Given the description of an element on the screen output the (x, y) to click on. 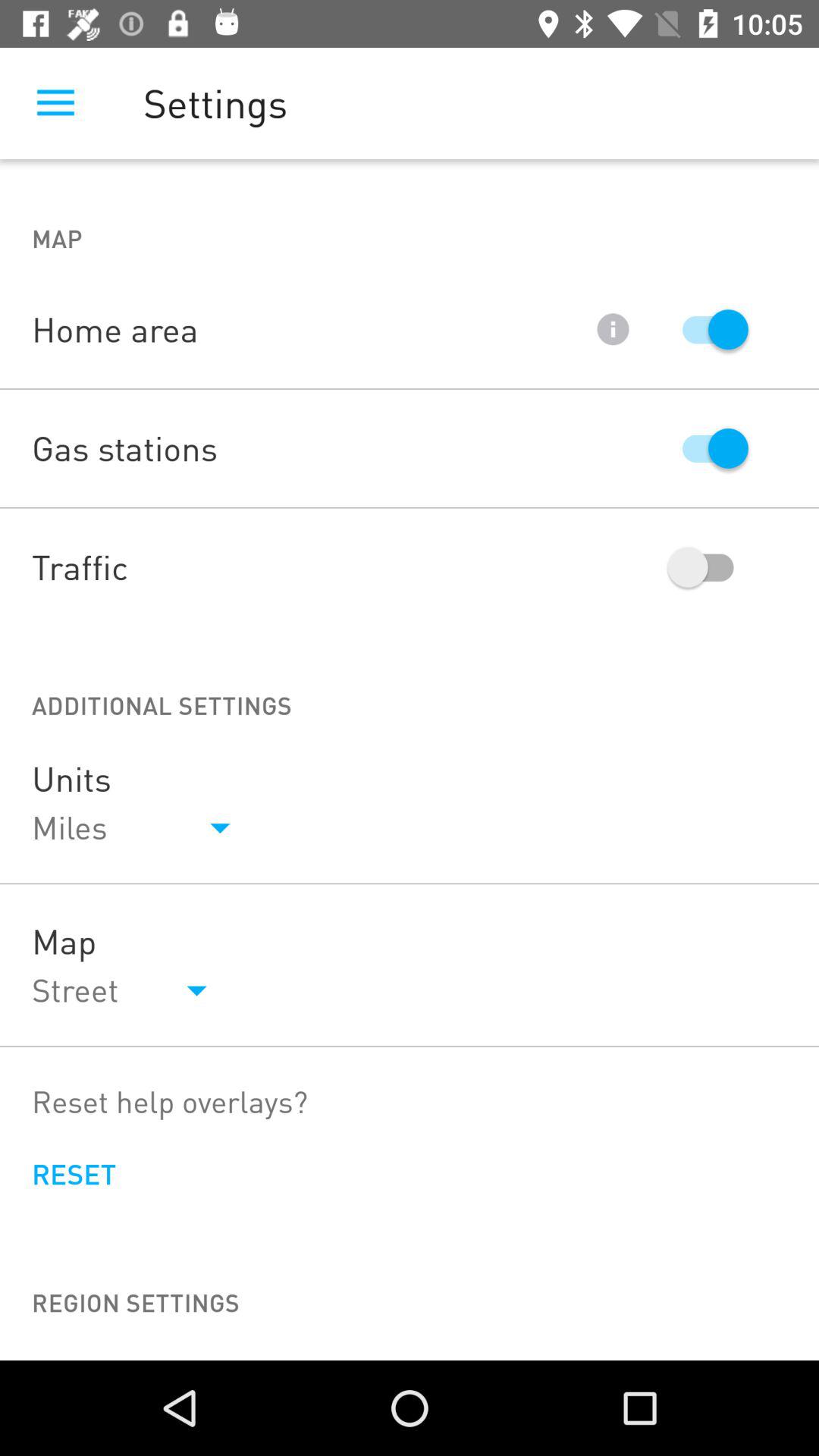
switch autoplay option (707, 329)
